Given the description of an element on the screen output the (x, y) to click on. 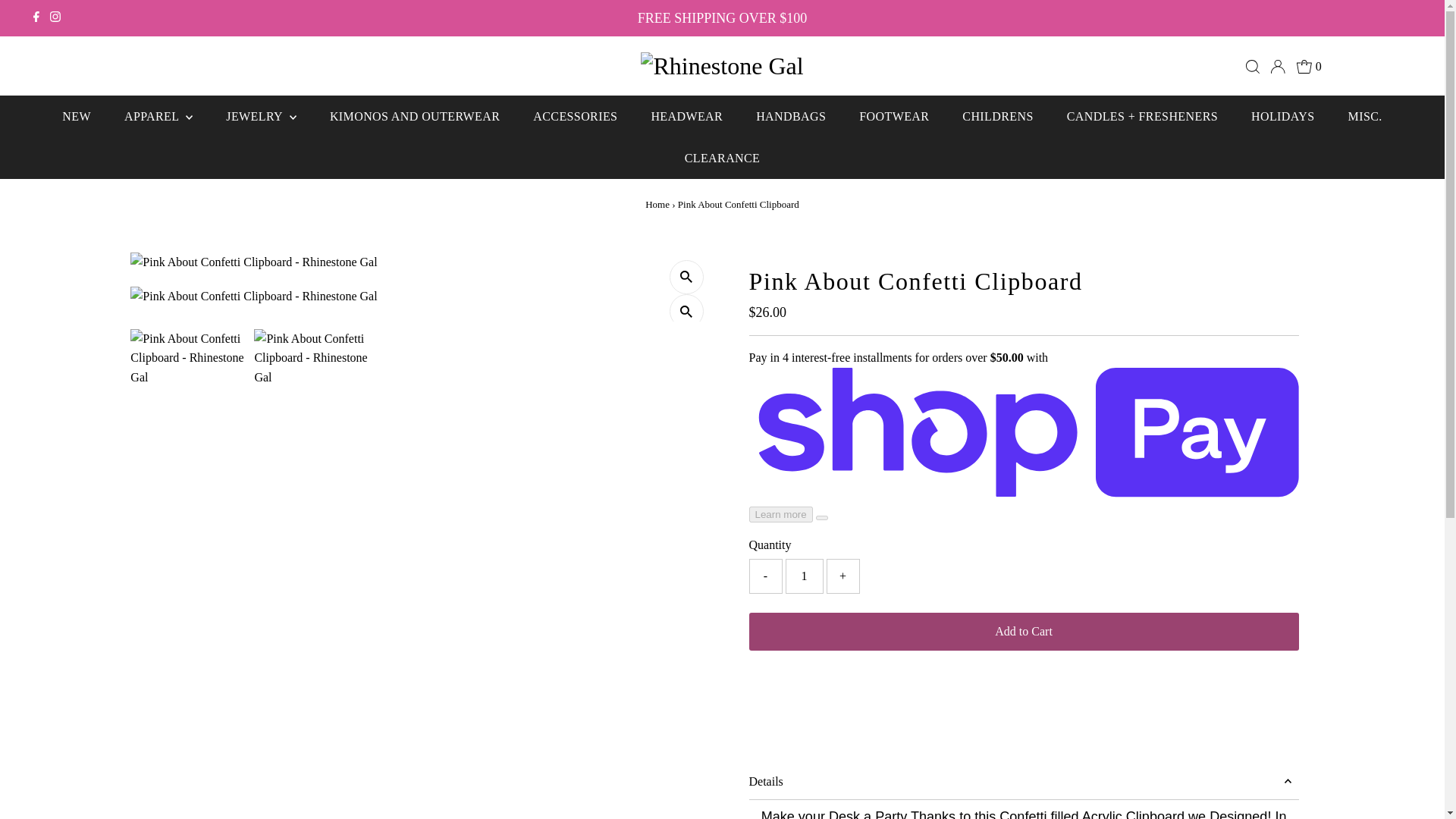
1 (805, 575)
Home (657, 204)
Click to zoom (685, 311)
Click to zoom (685, 277)
NEW (76, 116)
Add to Cart (1023, 631)
